Given the description of an element on the screen output the (x, y) to click on. 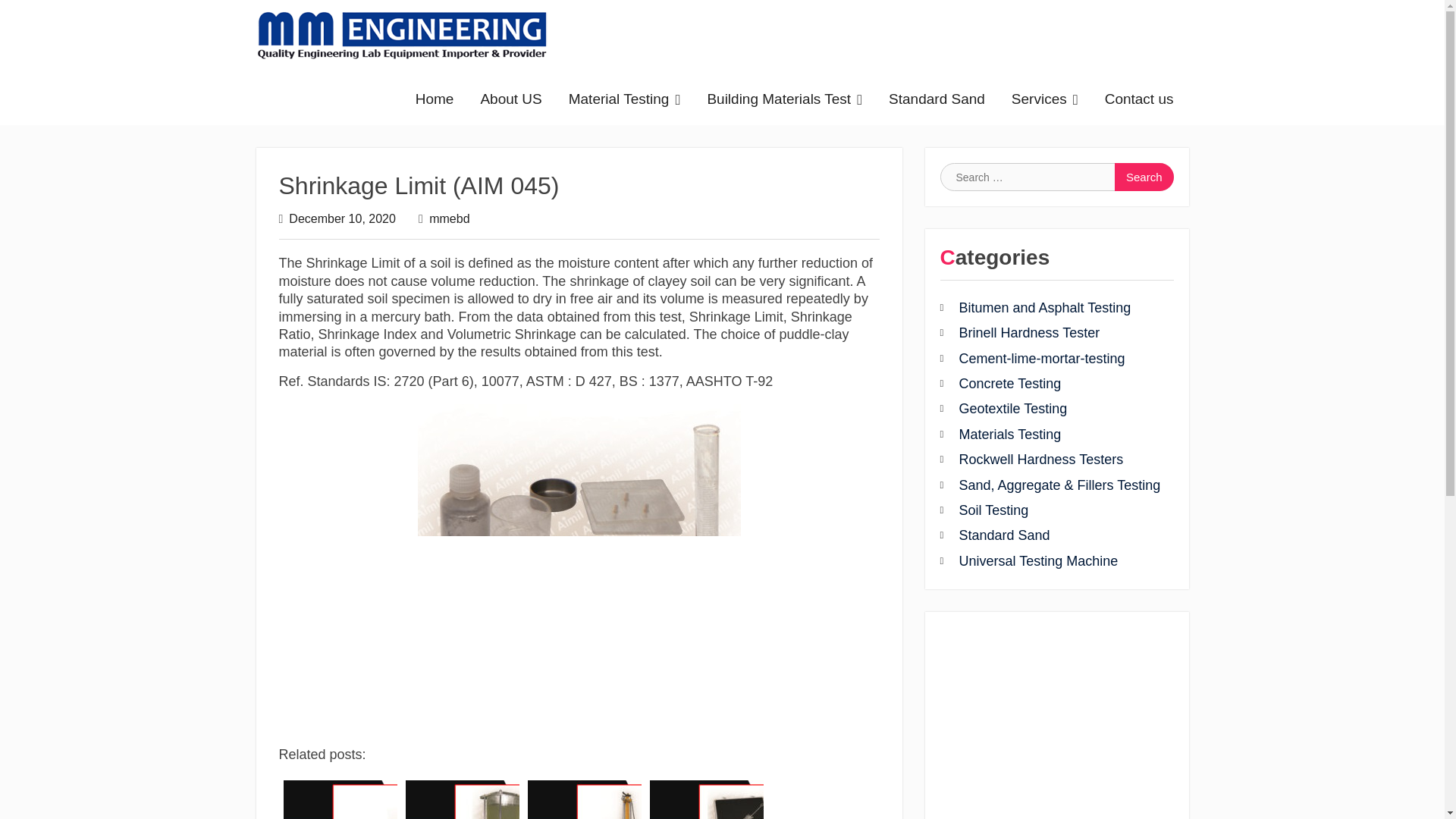
Aimil Concrete Testing (1049, 384)
Services (1044, 99)
Material Testing (625, 99)
Aimil Geotextile Testing (1049, 408)
About US (510, 99)
Search (1144, 176)
Building Materials Test (784, 99)
Bitumen and Asphalt Testing (1049, 307)
December 10, 2020 (342, 218)
